Given the description of an element on the screen output the (x, y) to click on. 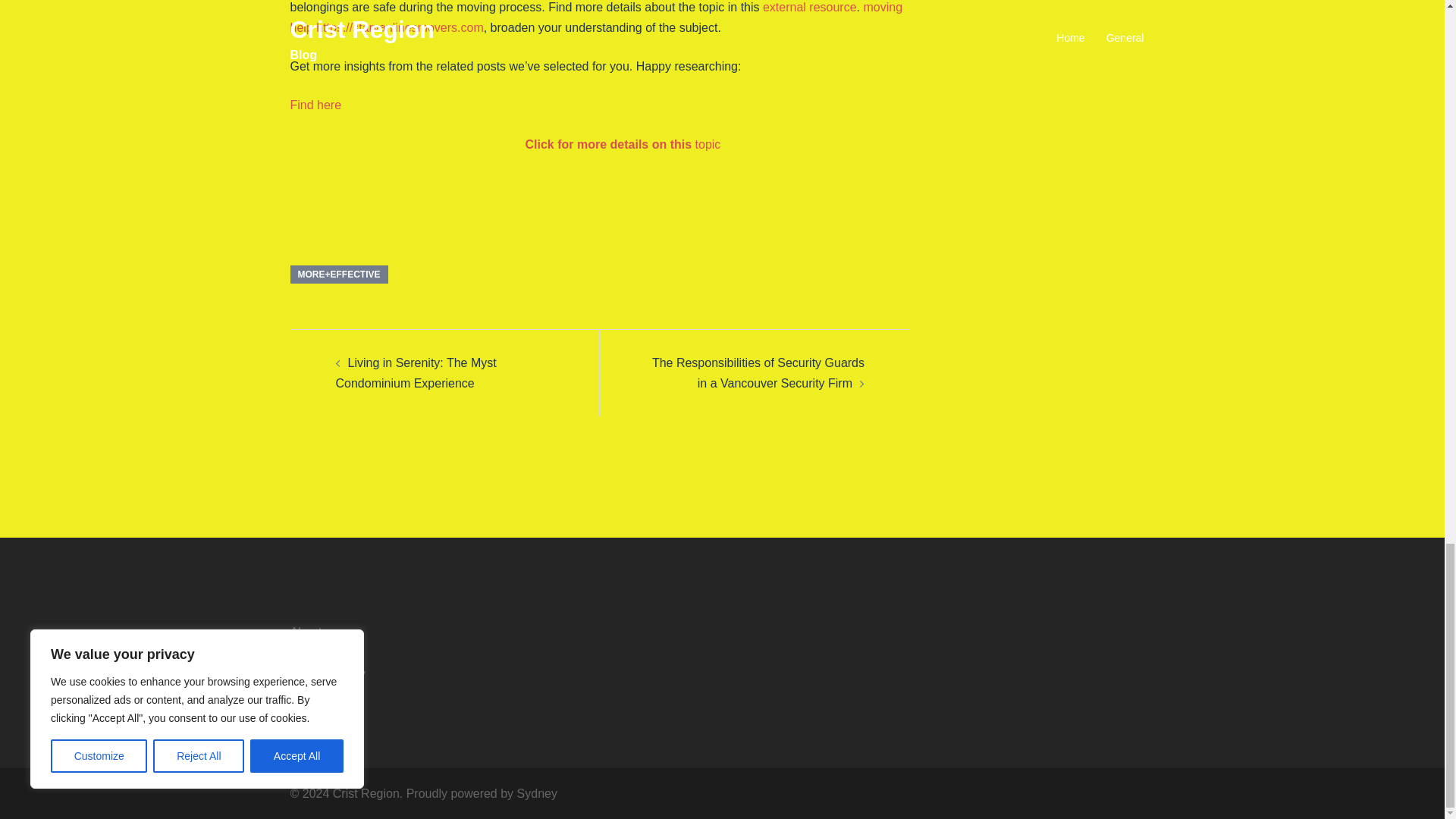
Click for more details on this topic (622, 144)
external resource (809, 6)
Living in Serenity: The Myst Condominium Experience (415, 372)
Find here (314, 104)
